Given the description of an element on the screen output the (x, y) to click on. 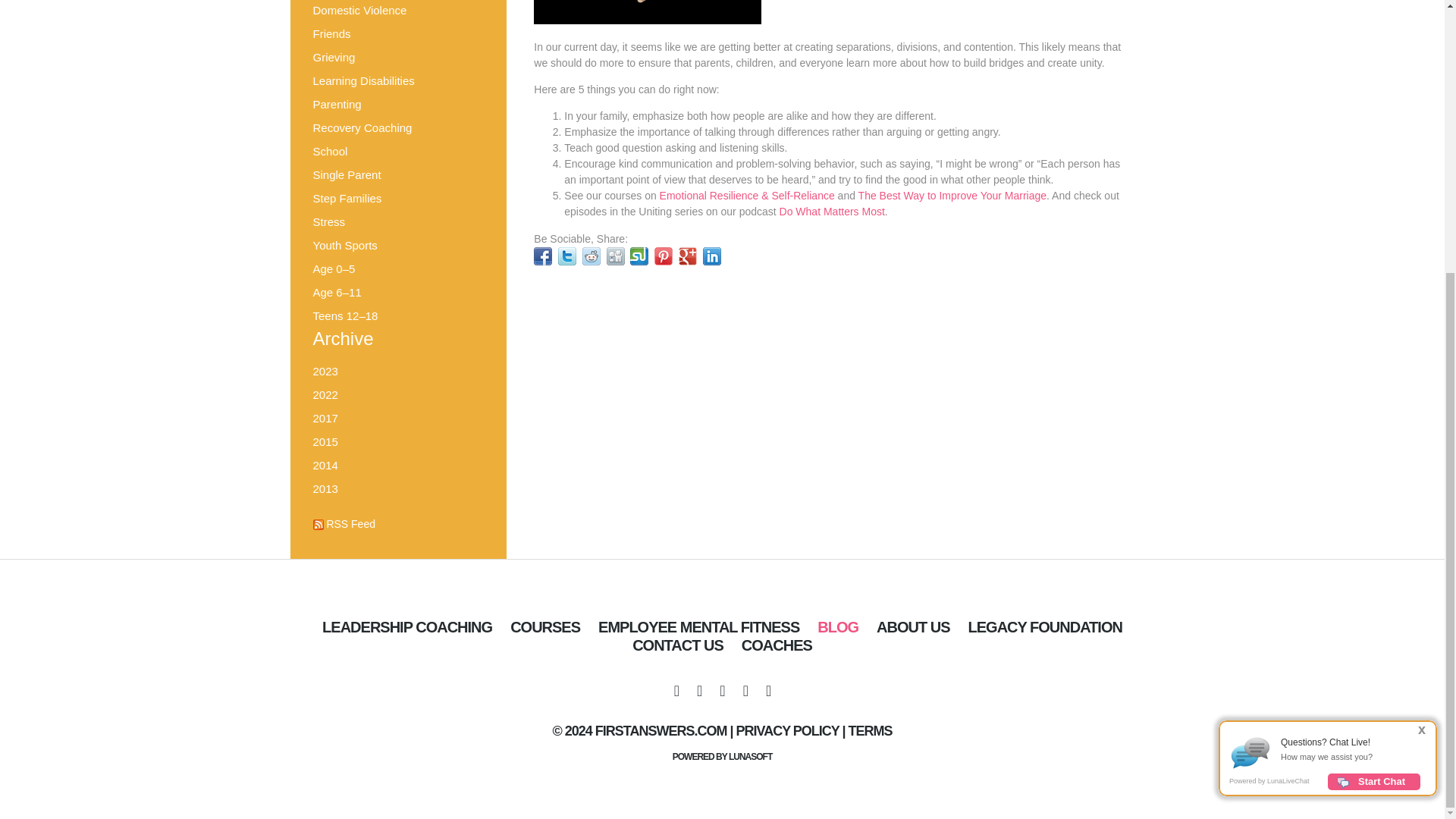
Twitter (566, 261)
StumbleUpon (638, 261)
Google Plus (687, 261)
Digg (615, 261)
Reddit (590, 261)
First Answers Online Emotional Self-Reliance Coaching (406, 627)
Pinterest (662, 261)
Professional Website Development (750, 756)
FirstAnswers.com Emotional self-reliance courses  (545, 627)
Linked In (711, 261)
Facebook (542, 261)
